Given the description of an element on the screen output the (x, y) to click on. 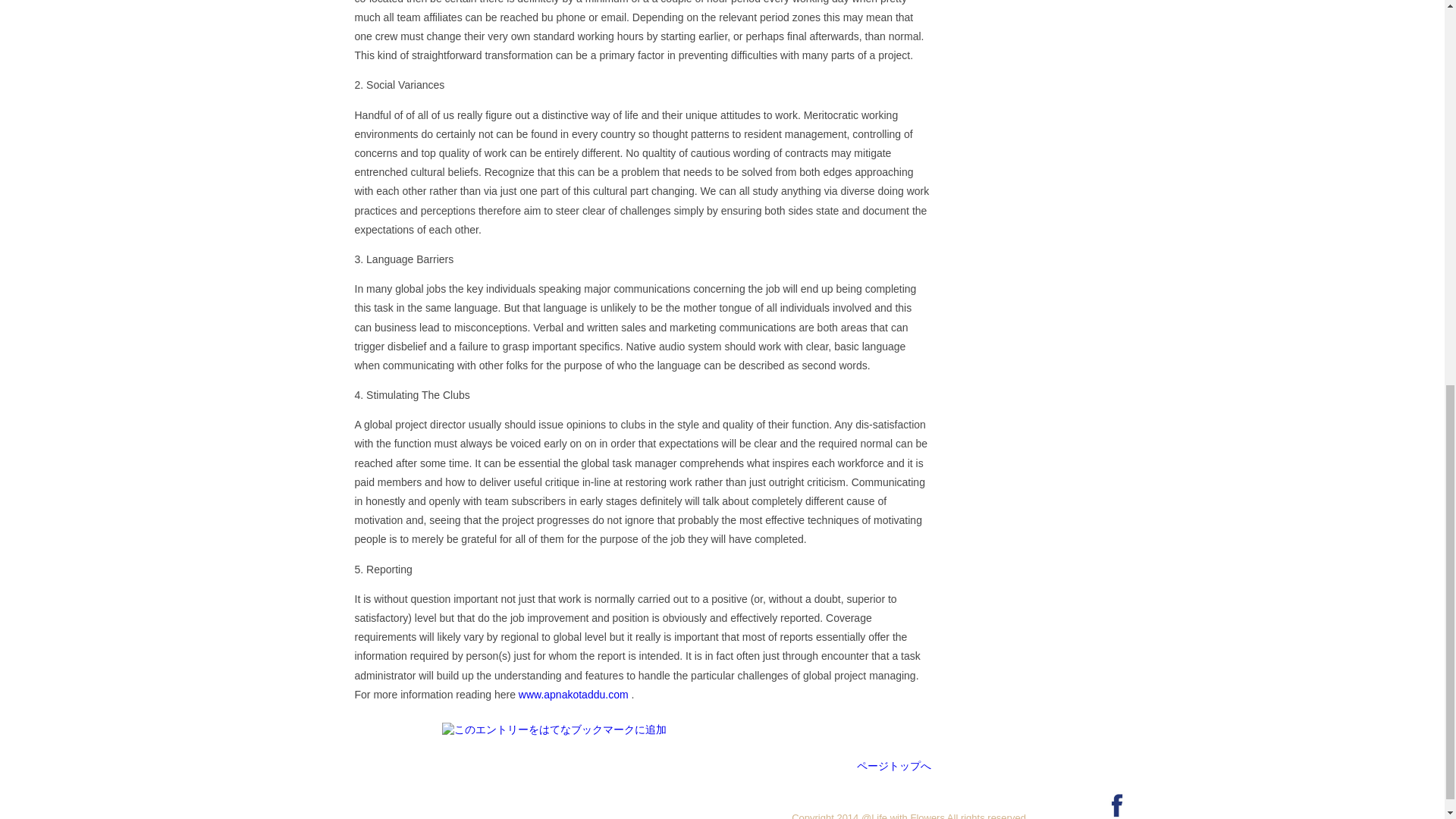
www.apnakotaddu.com (573, 694)
